Given the description of an element on the screen output the (x, y) to click on. 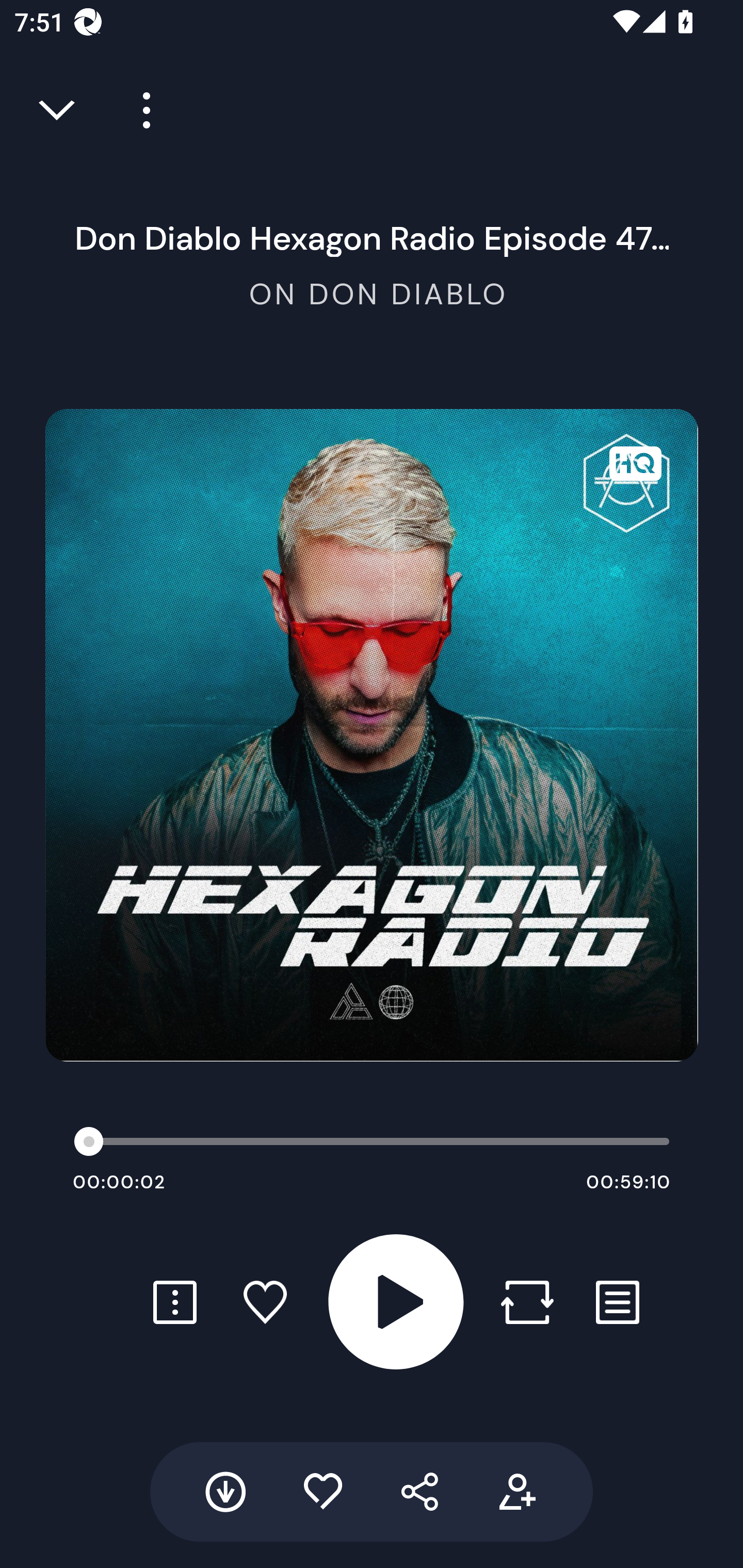
Close full player (58, 110)
Player more options button (139, 110)
Repost button (527, 1301)
